Given the description of an element on the screen output the (x, y) to click on. 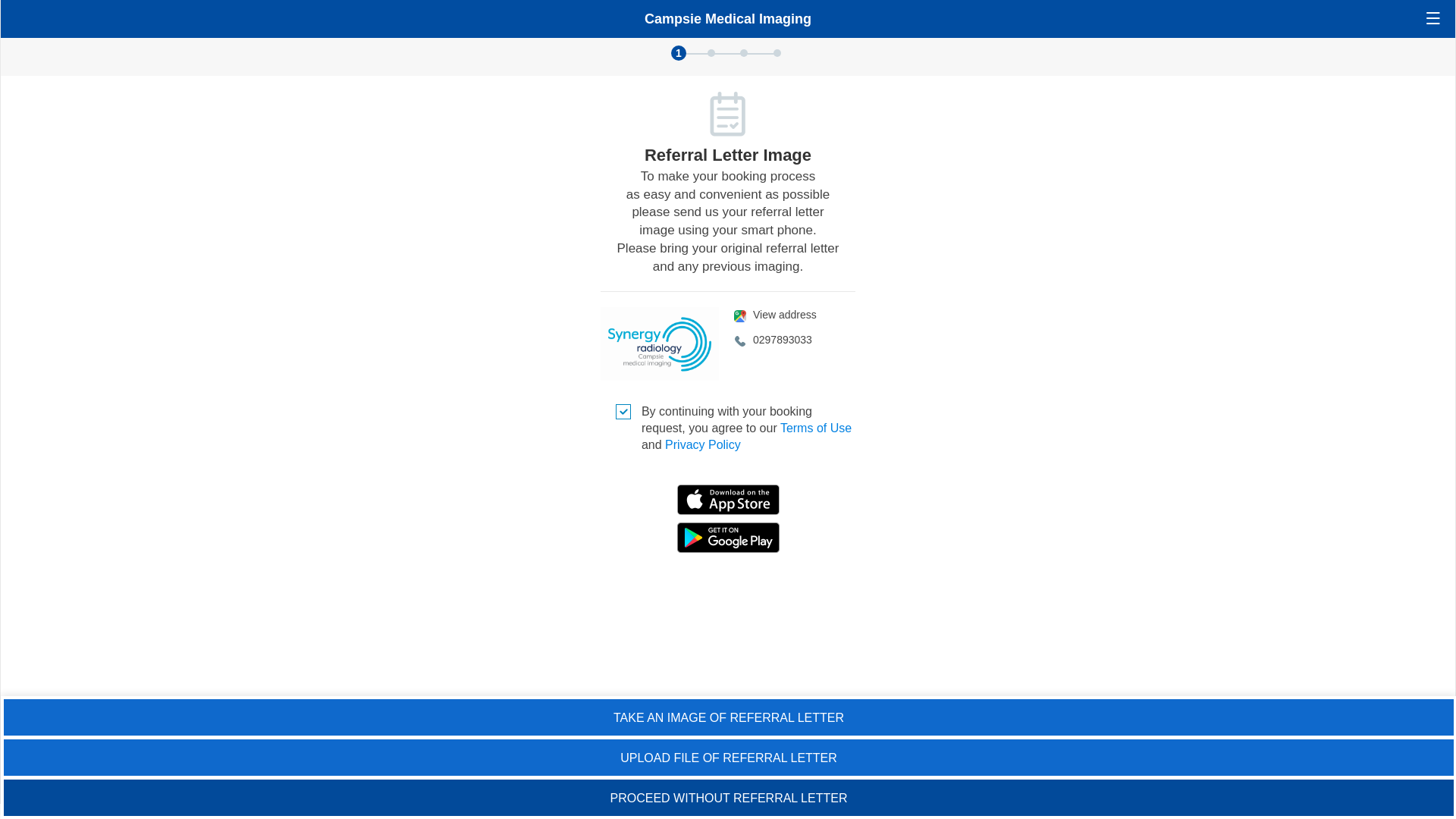
View address Element type: text (794, 314)
UPLOAD FILE OF REFERRAL LETTER Element type: text (728, 757)
Terms of Use Element type: text (815, 427)
0297893033 Element type: text (794, 339)
Privacy Policy Element type: text (702, 444)
TAKE AN IMAGE OF REFERRAL LETTER Element type: text (728, 717)
PROCEED WITHOUT REFERRAL LETTER Element type: text (728, 797)
open Element type: text (1433, 18)
